Given the description of an element on the screen output the (x, y) to click on. 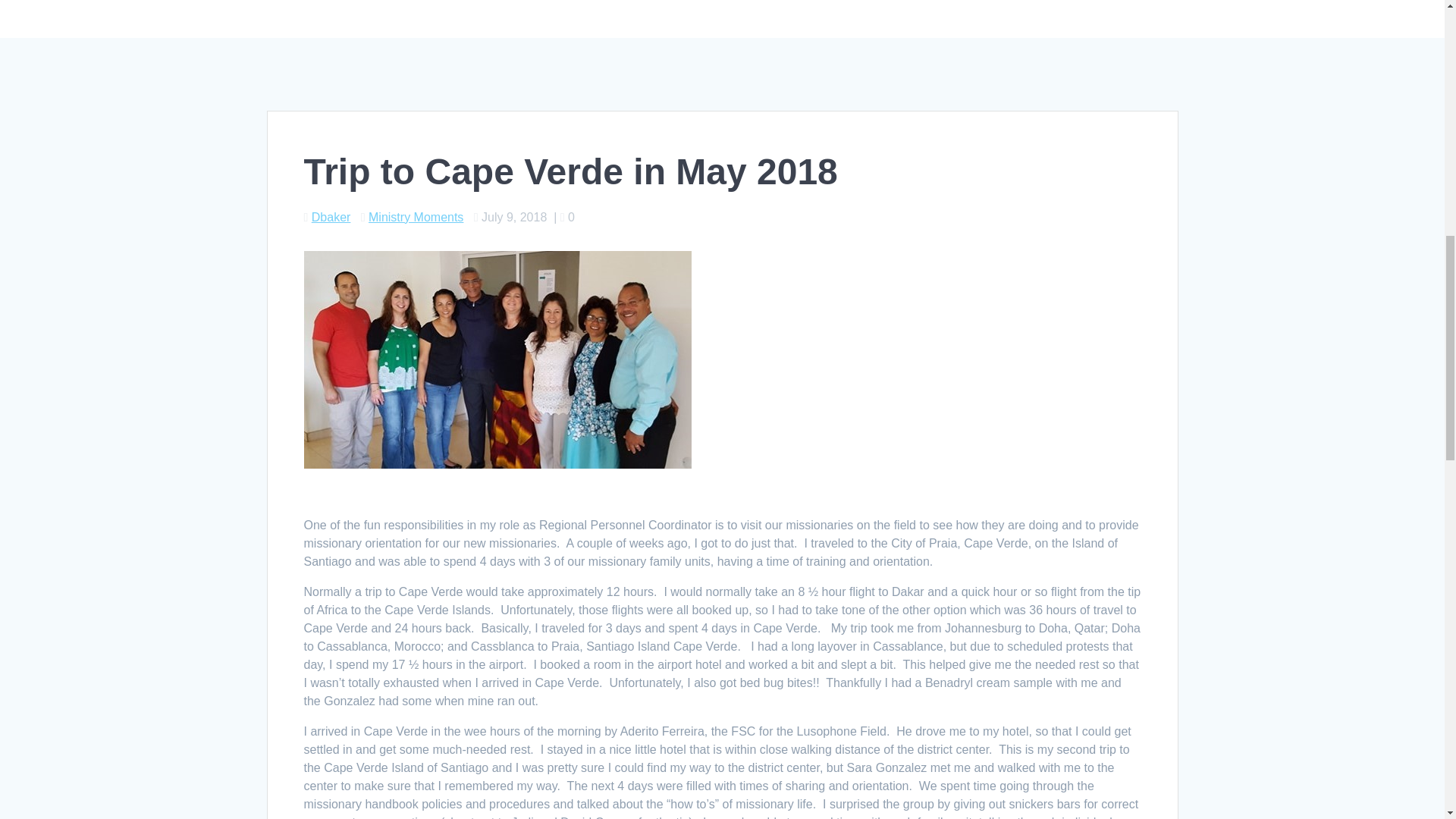
Dbaker (330, 216)
Posts by Dbaker (330, 216)
Ministry Moments (415, 216)
